Given the description of an element on the screen output the (x, y) to click on. 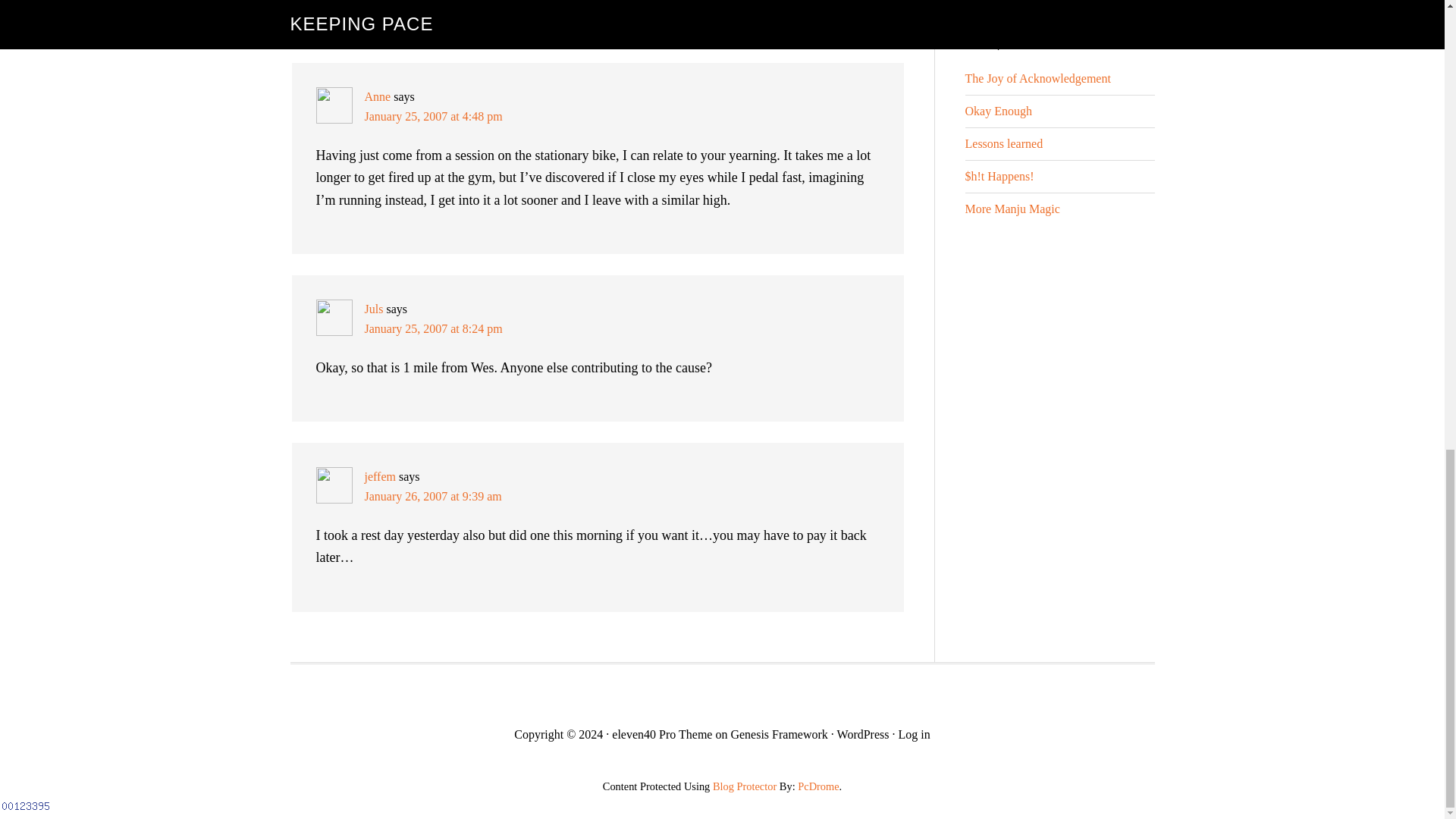
Anne (377, 96)
Juls (373, 308)
January 25, 2007 at 4:48 pm (433, 115)
jeffem (379, 476)
January 25, 2007 at 8:24 pm (433, 328)
January 26, 2007 at 9:39 am (432, 495)
